Given the description of an element on the screen output the (x, y) to click on. 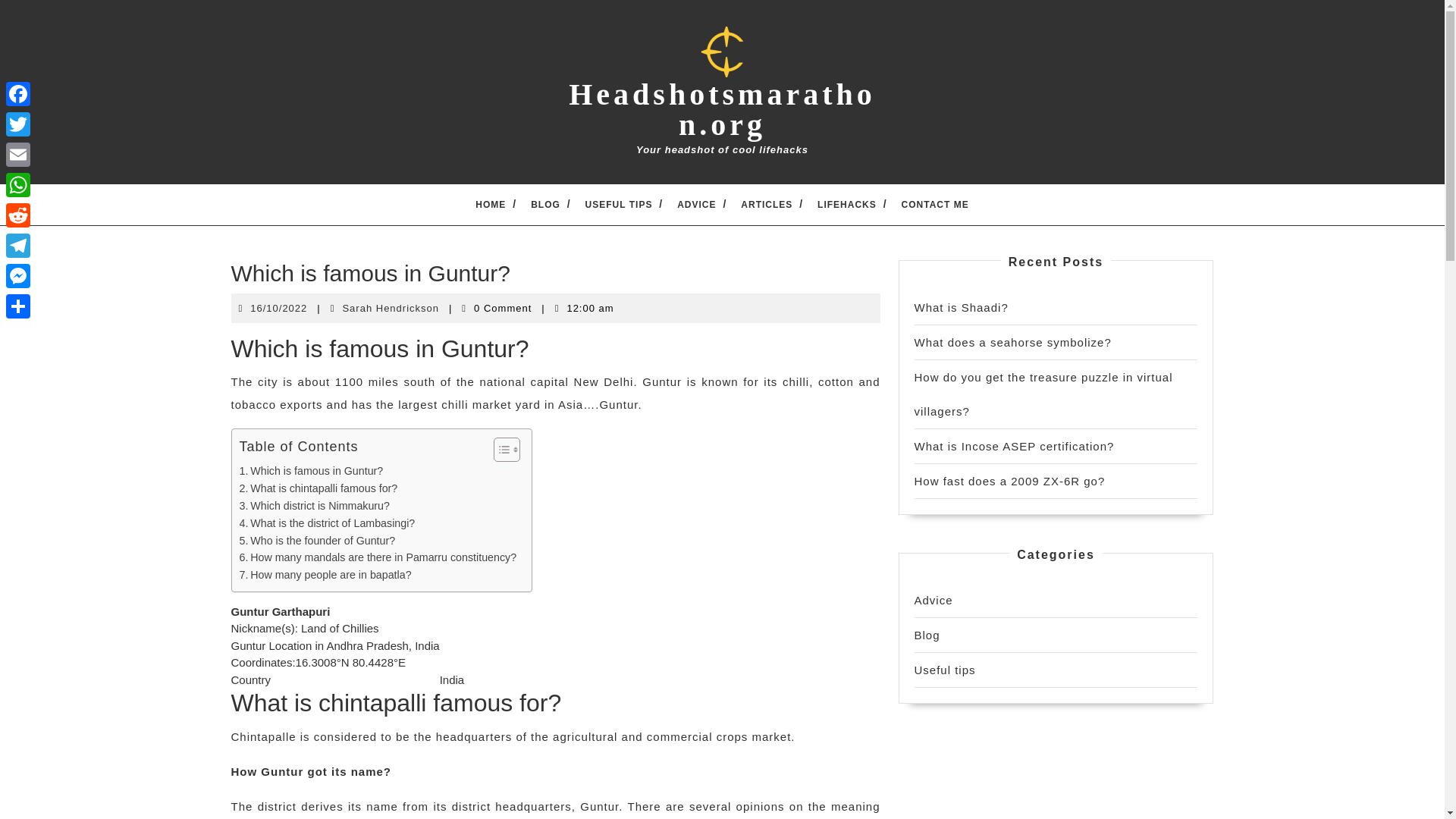
Which is famous in Guntur? (312, 470)
Twitter (17, 123)
What is the district of Lambasingi? (327, 523)
What is chintapalli famous for? (318, 488)
ADVICE (695, 203)
CONTACT ME (935, 203)
Which is famous in Guntur? (312, 470)
What is Shaadi? (961, 307)
Who is the founder of Guntur? (318, 540)
LIFEHACKS (846, 203)
Facebook (17, 93)
HOME (490, 203)
How many mandals are there in Pamarru constituency? (390, 307)
How many people are in bapatla? (378, 557)
